Given the description of an element on the screen output the (x, y) to click on. 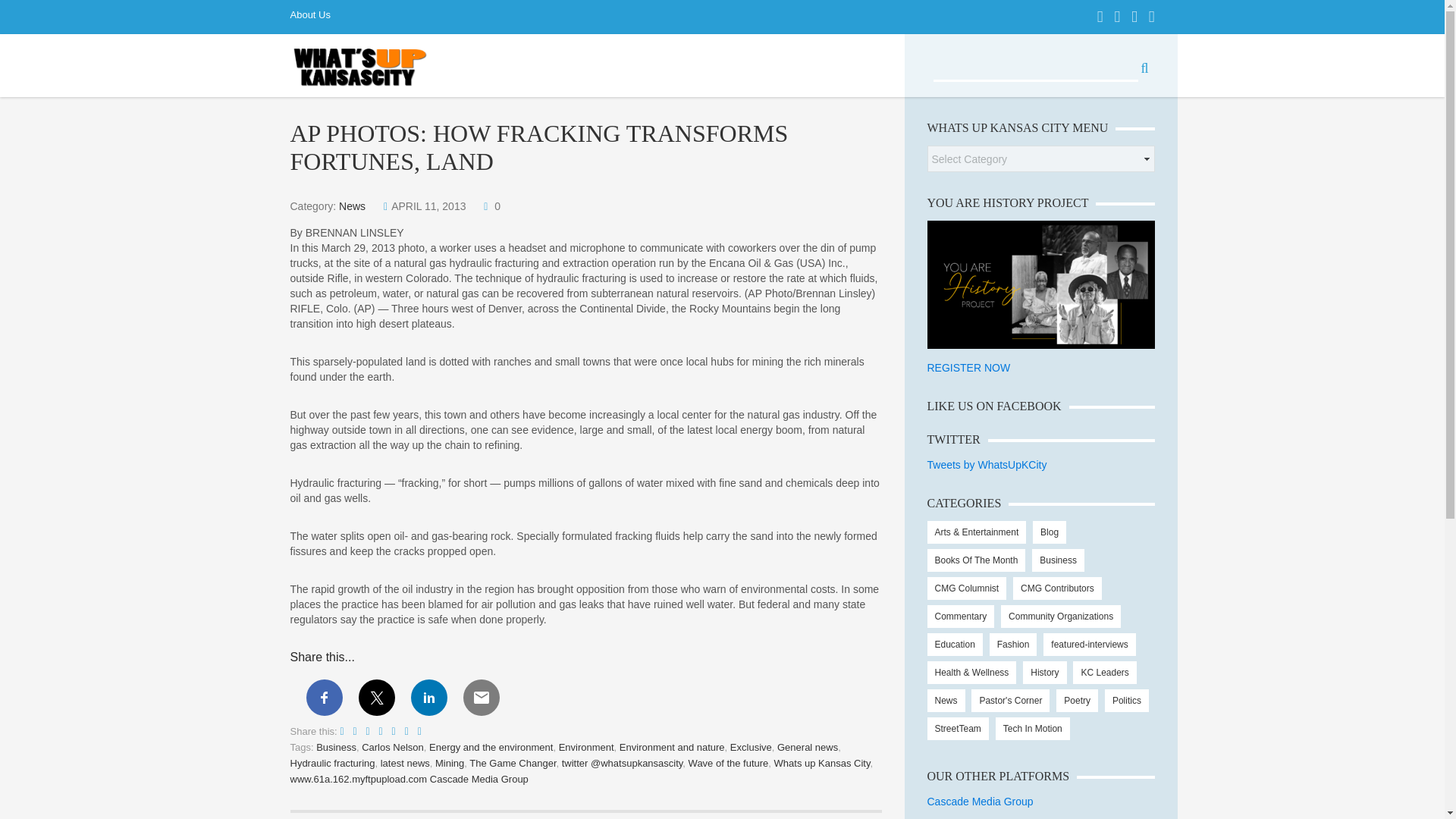
Energy and the environment (491, 747)
Environment and nature (672, 747)
Environment (586, 747)
Business (335, 747)
The Game Changer (512, 763)
www.61a.162.myftpupload.com Cascade Media Group (408, 778)
General news (807, 747)
Whats up Kansas City (822, 763)
Wave of the future (728, 763)
latest news (404, 763)
News (352, 205)
About Us (314, 17)
Mining (449, 763)
Carlos Nelson (392, 747)
Hydraulic fracturing (331, 763)
